Given the description of an element on the screen output the (x, y) to click on. 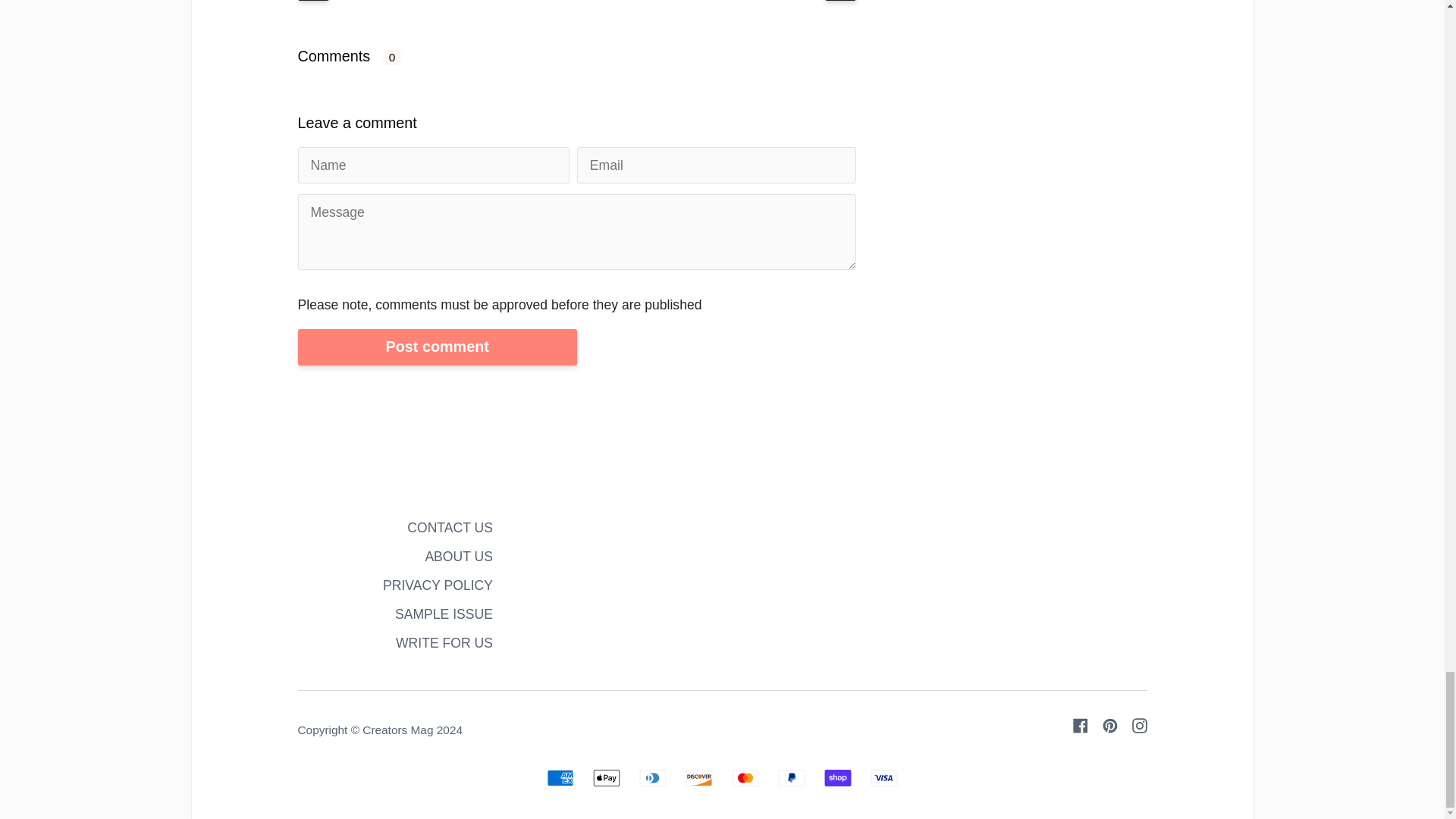
Mastercard (745, 777)
Post comment (436, 347)
Visa (884, 777)
Apple Pay (606, 777)
PayPal (791, 777)
Discover (699, 777)
American Express (559, 777)
Diners Club (652, 777)
Shop Pay (837, 777)
